Given the description of an element on the screen output the (x, y) to click on. 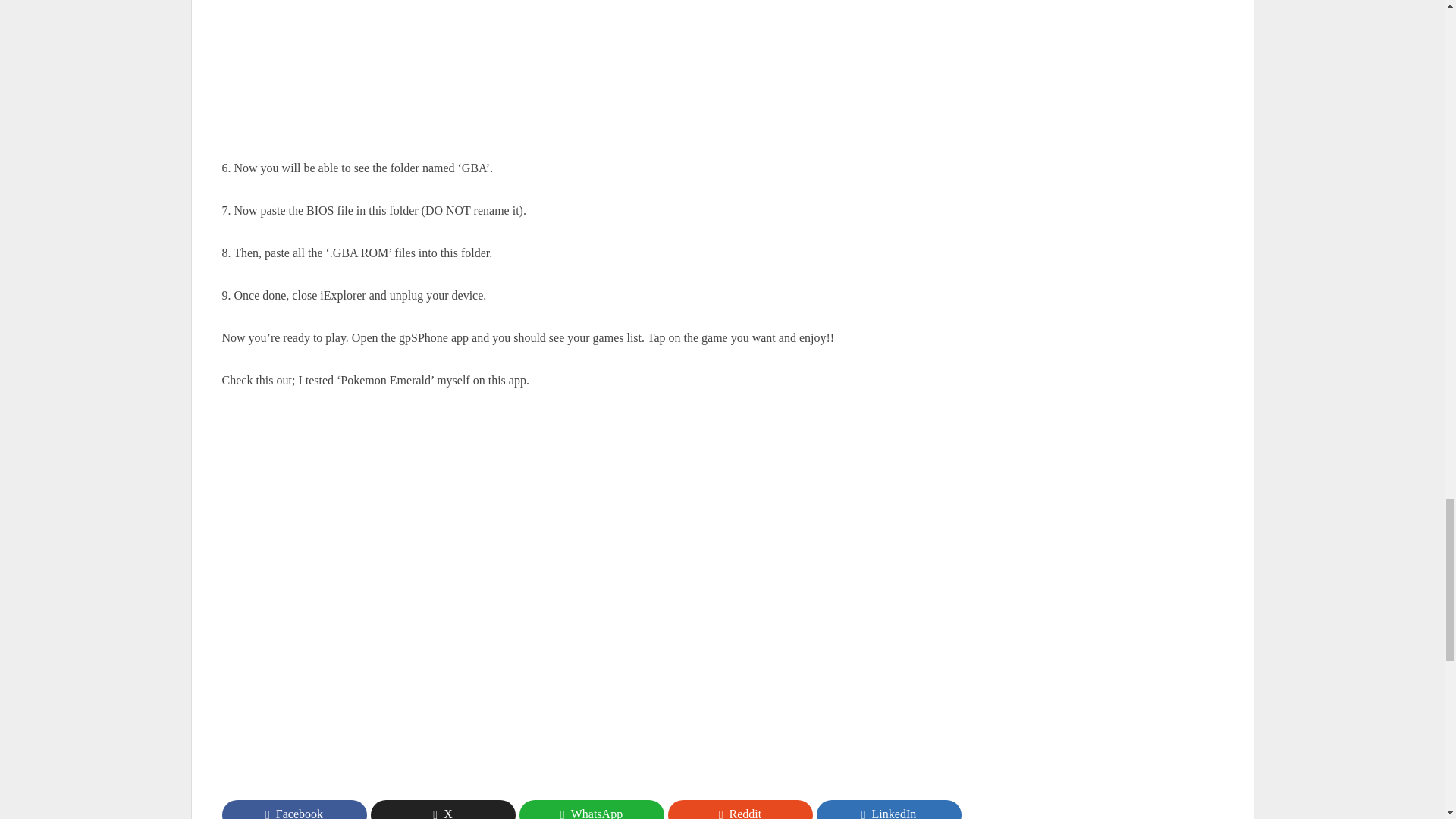
LinkedIn (887, 809)
Reddit (739, 809)
Facebook (293, 809)
X (442, 809)
WhatsApp (590, 809)
